Given the description of an element on the screen output the (x, y) to click on. 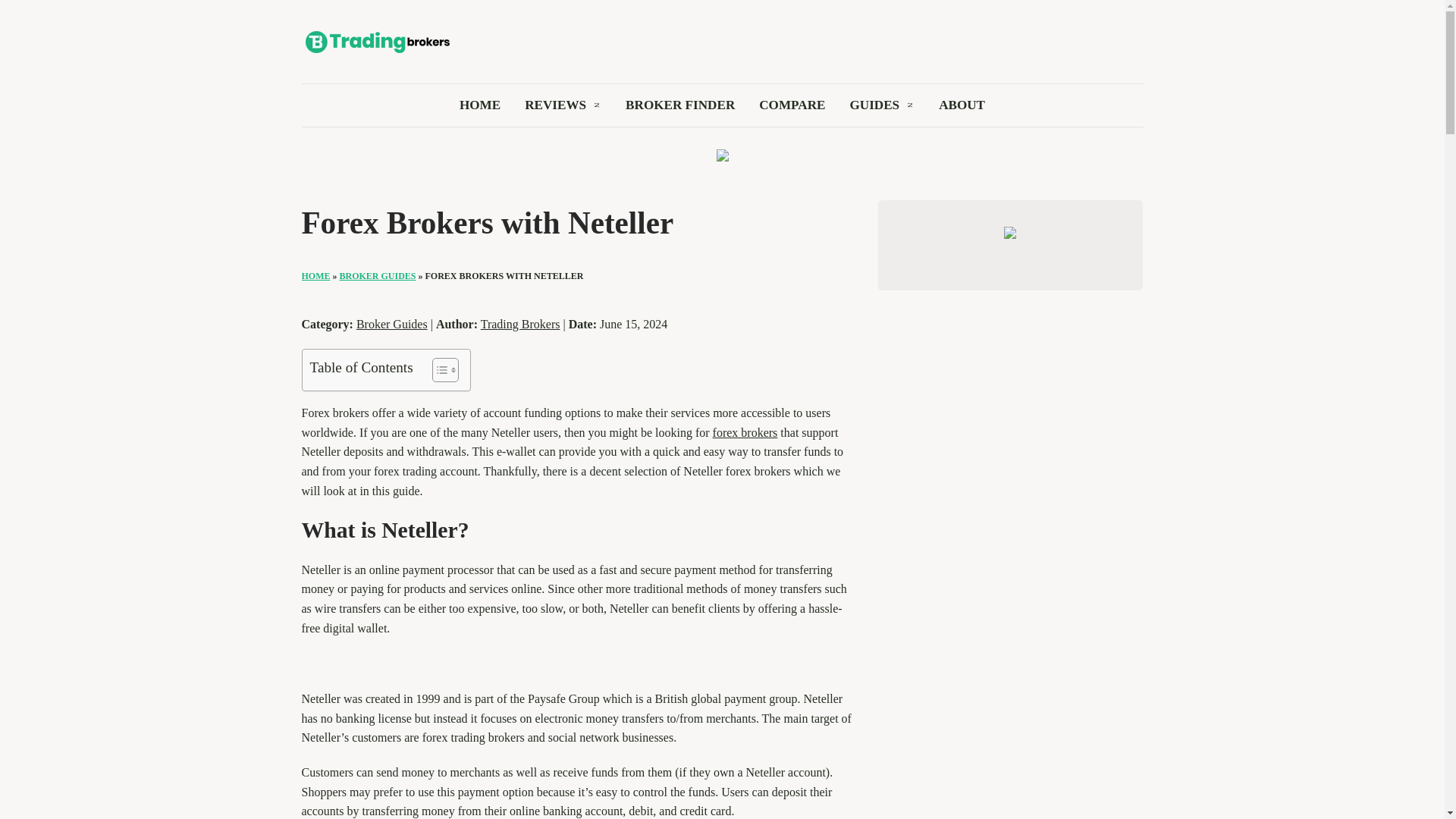
HOME (480, 110)
ABOUT (962, 110)
COMPARE (791, 110)
REVIEWS (555, 110)
BROKER FINDER (680, 110)
GUIDES (873, 110)
